Given the description of an element on the screen output the (x, y) to click on. 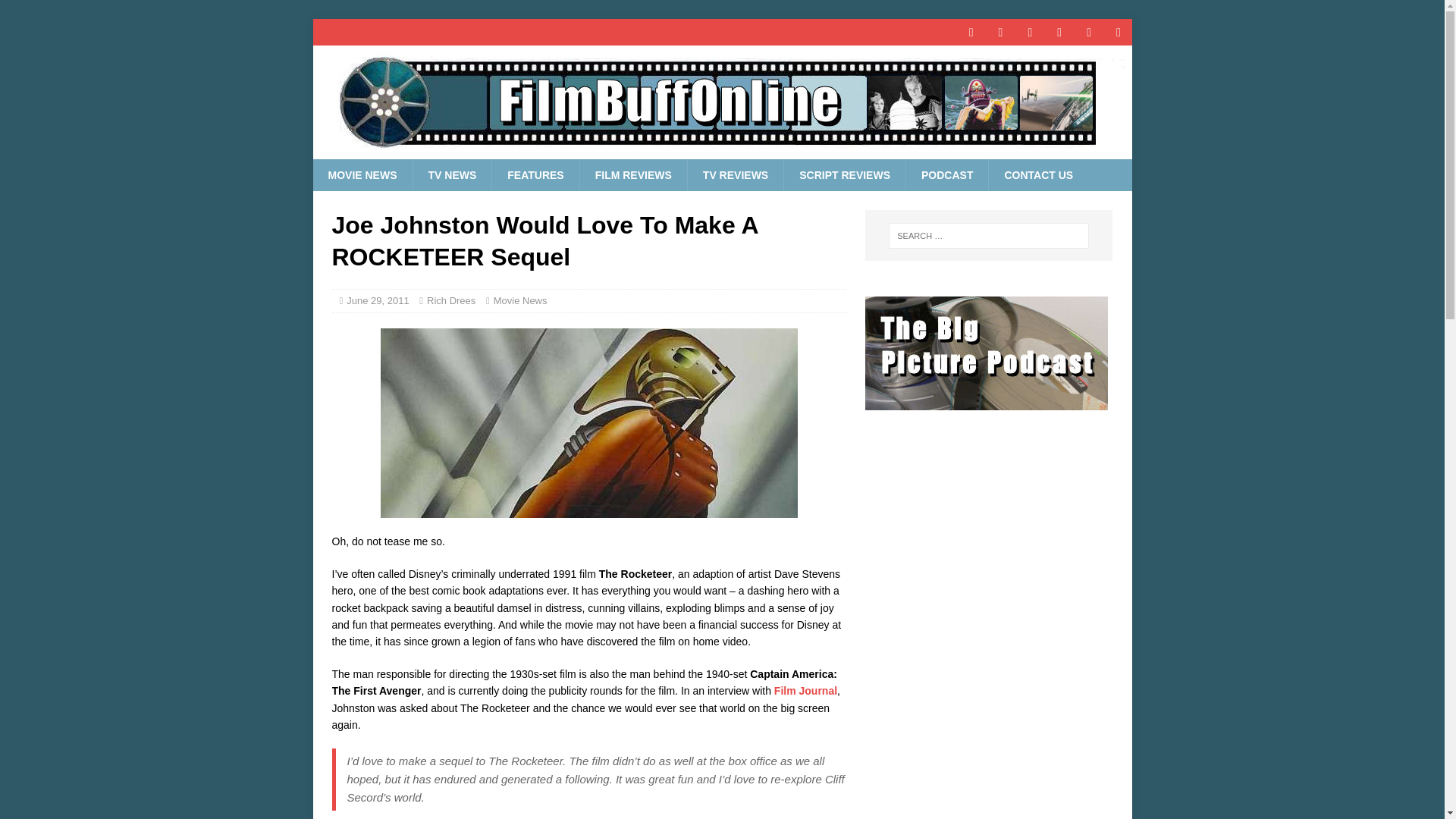
Follow us on Instagram (1088, 31)
June 29, 2011 (377, 300)
FilmBuffOnline (722, 150)
MOVIE NEWS (362, 174)
PODCAST (946, 174)
Follow us on Facebook (971, 31)
Follow us on YouTube (1029, 31)
RocketeerHeader (588, 422)
TV REVIEWS (735, 174)
TV NEWS (452, 174)
